Given the description of an element on the screen output the (x, y) to click on. 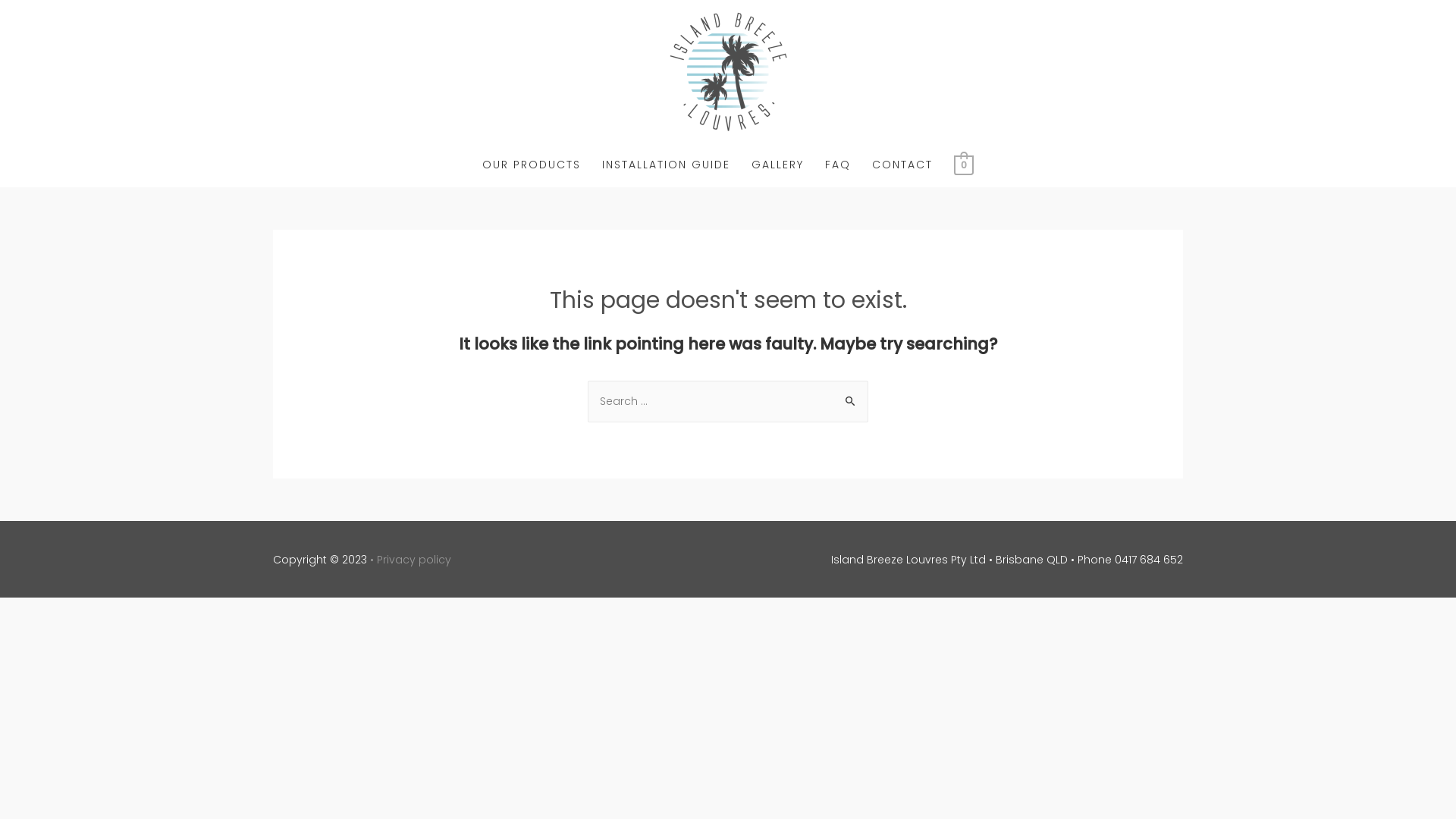
FAQ Element type: text (837, 164)
OUR PRODUCTS Element type: text (531, 164)
INSTALLATION GUIDE Element type: text (665, 164)
CONTACT Element type: text (902, 164)
GALLERY Element type: text (777, 164)
0 Element type: text (962, 164)
Search Element type: text (851, 395)
